Given the description of an element on the screen output the (x, y) to click on. 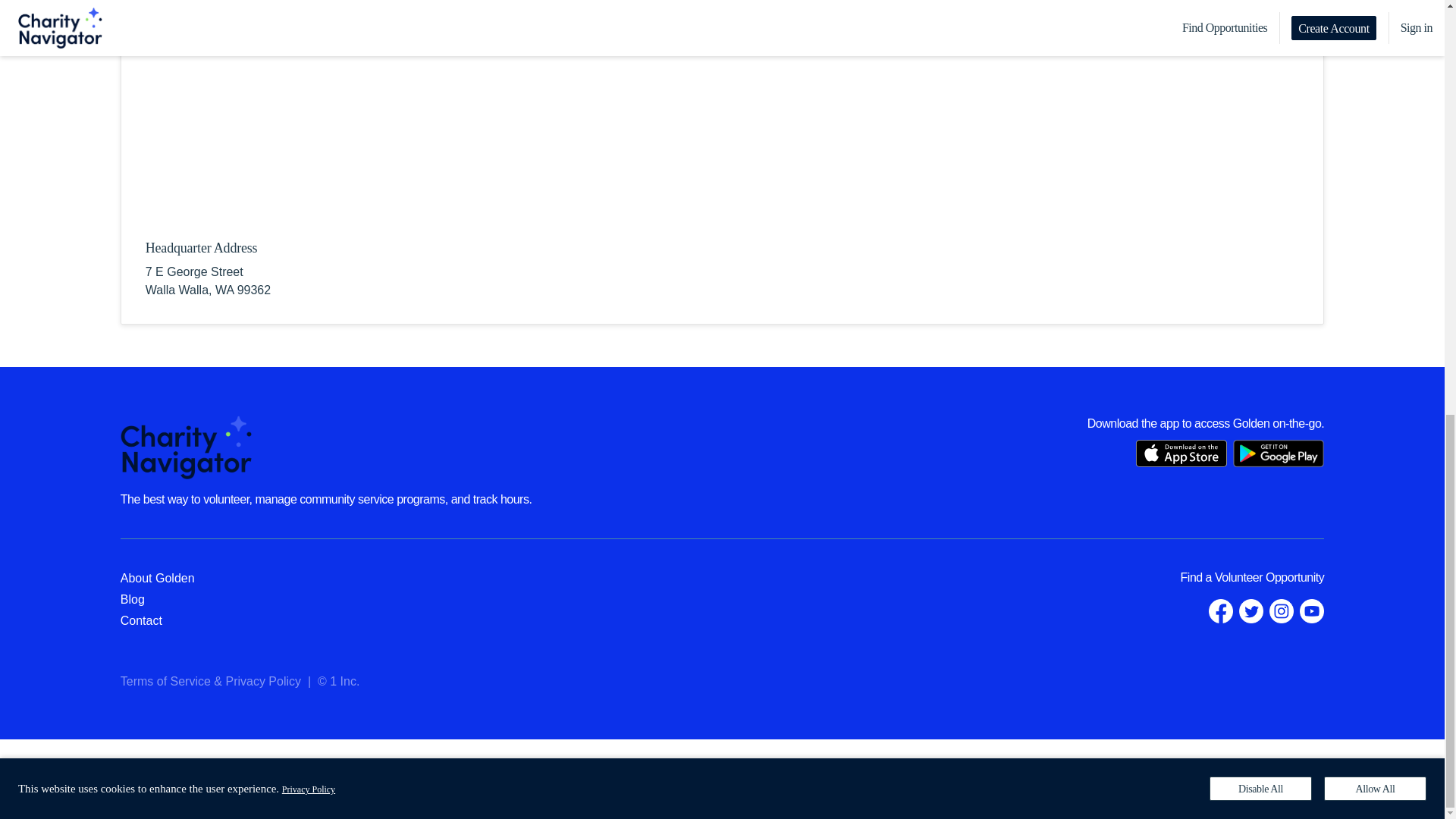
Blog (132, 599)
Terms of Service (165, 680)
Visit Us On Twitter (1251, 610)
Blog (132, 599)
About Golden (157, 577)
AppStore Link (1181, 453)
About Golden (157, 577)
Visit Us On Facebook (1220, 610)
Play Store Link (1278, 453)
Volunteer Opportunity (1268, 576)
Visit Us On Instagram (1281, 610)
Privacy Policy (263, 680)
Visit Us On YouTube (1311, 610)
Contact (140, 620)
Volunteer Opportunity (1268, 576)
